Given the description of an element on the screen output the (x, y) to click on. 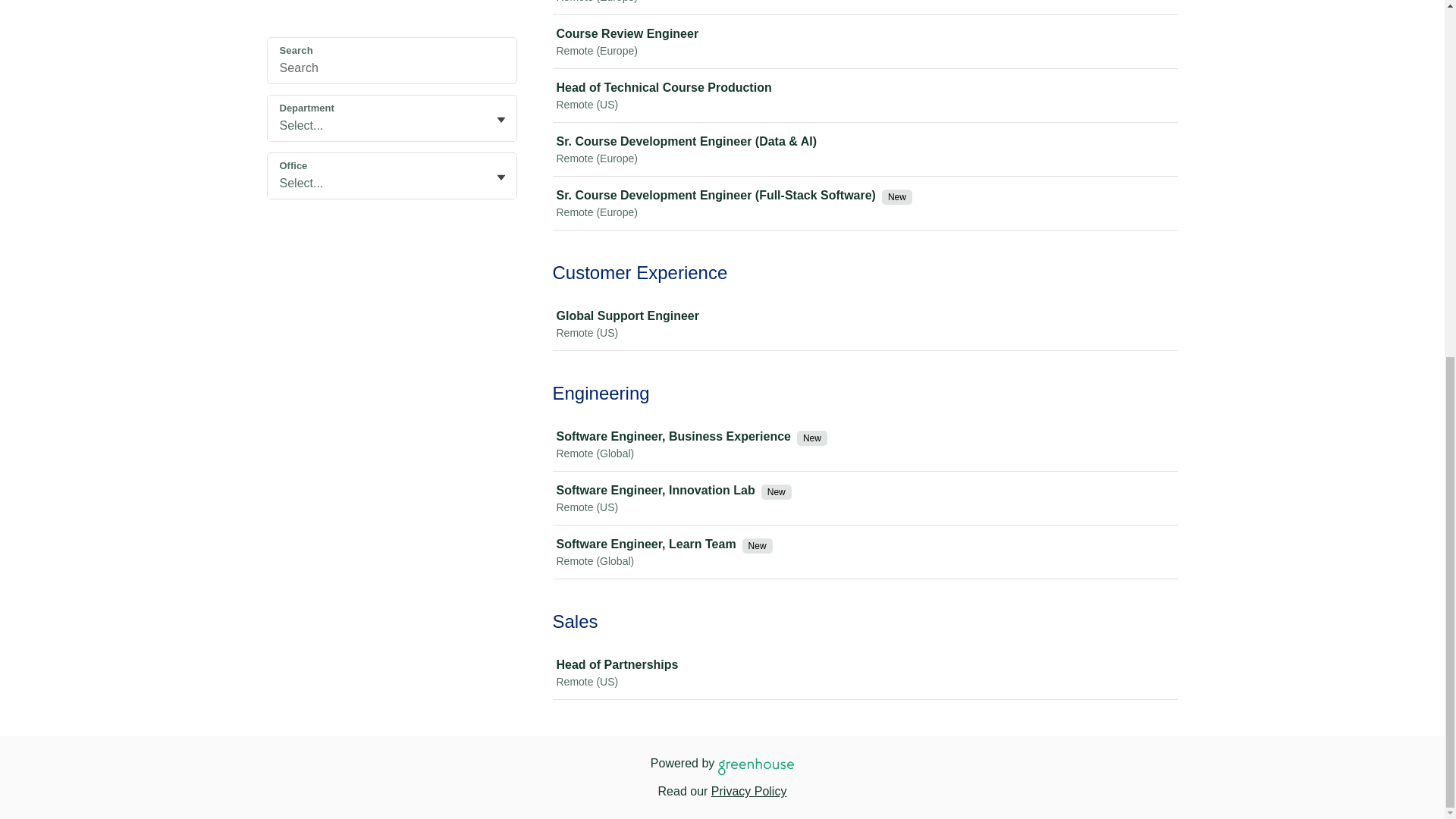
Privacy Policy (749, 790)
